Given the description of an element on the screen output the (x, y) to click on. 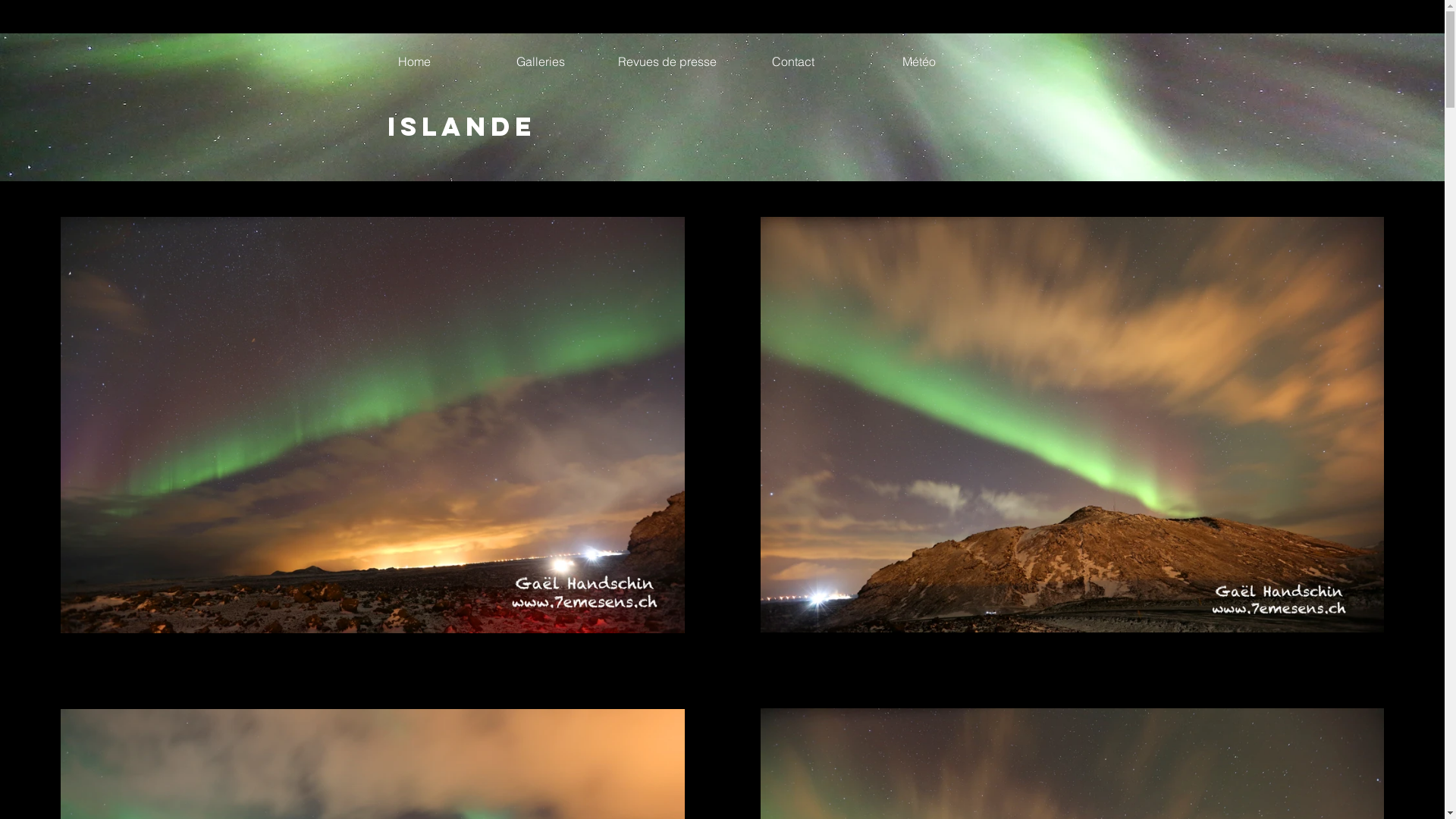
Home Element type: text (413, 61)
Revues de presse Element type: text (666, 61)
Contact Element type: text (792, 61)
